Given the description of an element on the screen output the (x, y) to click on. 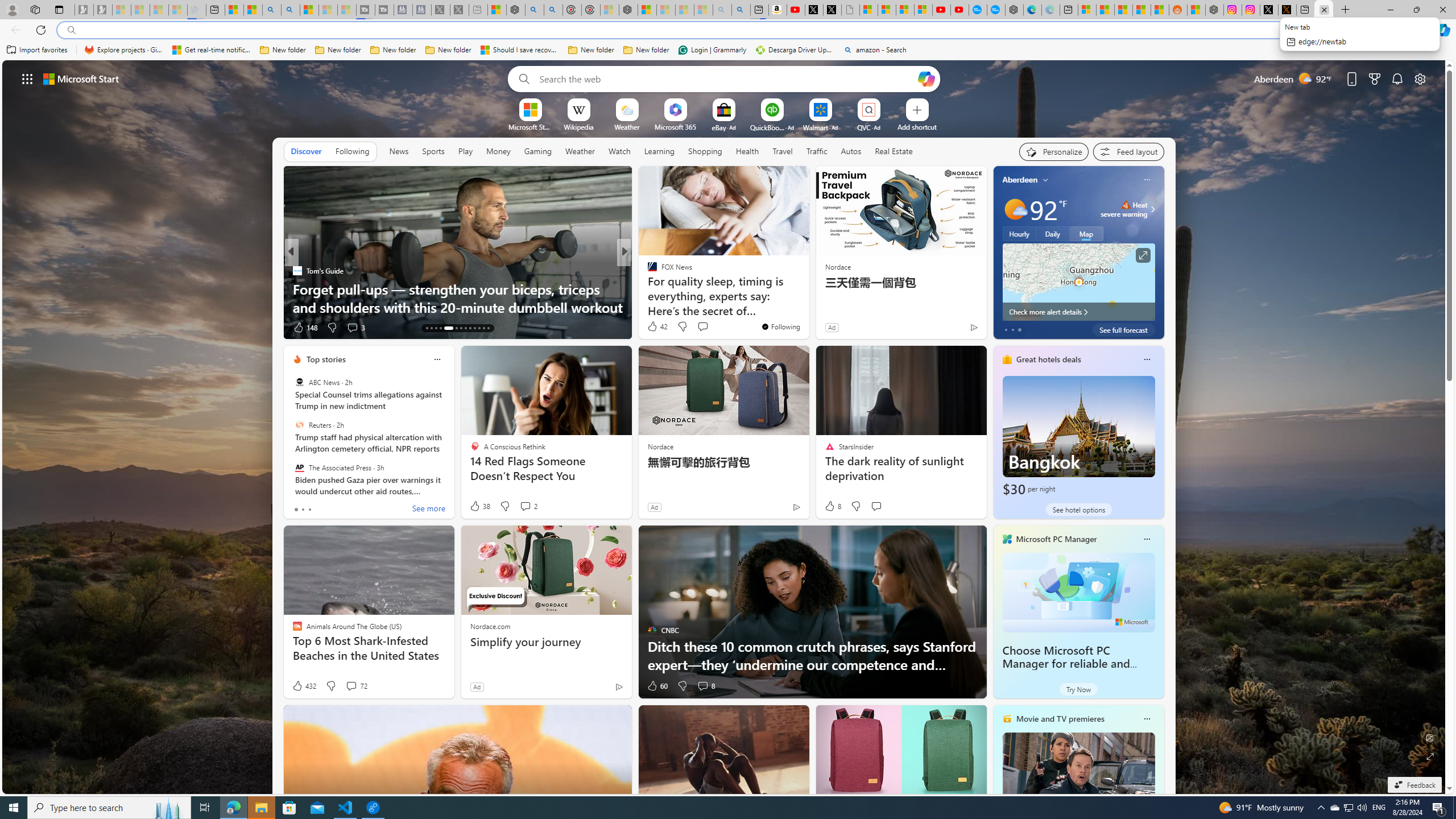
The Wall Street Journal (647, 288)
272 Like (654, 327)
Wikipedia (578, 126)
View comments 72 Comment (350, 685)
Travel (782, 151)
Shopping (705, 151)
View comments 124 Comment (709, 327)
